Given the description of an element on the screen output the (x, y) to click on. 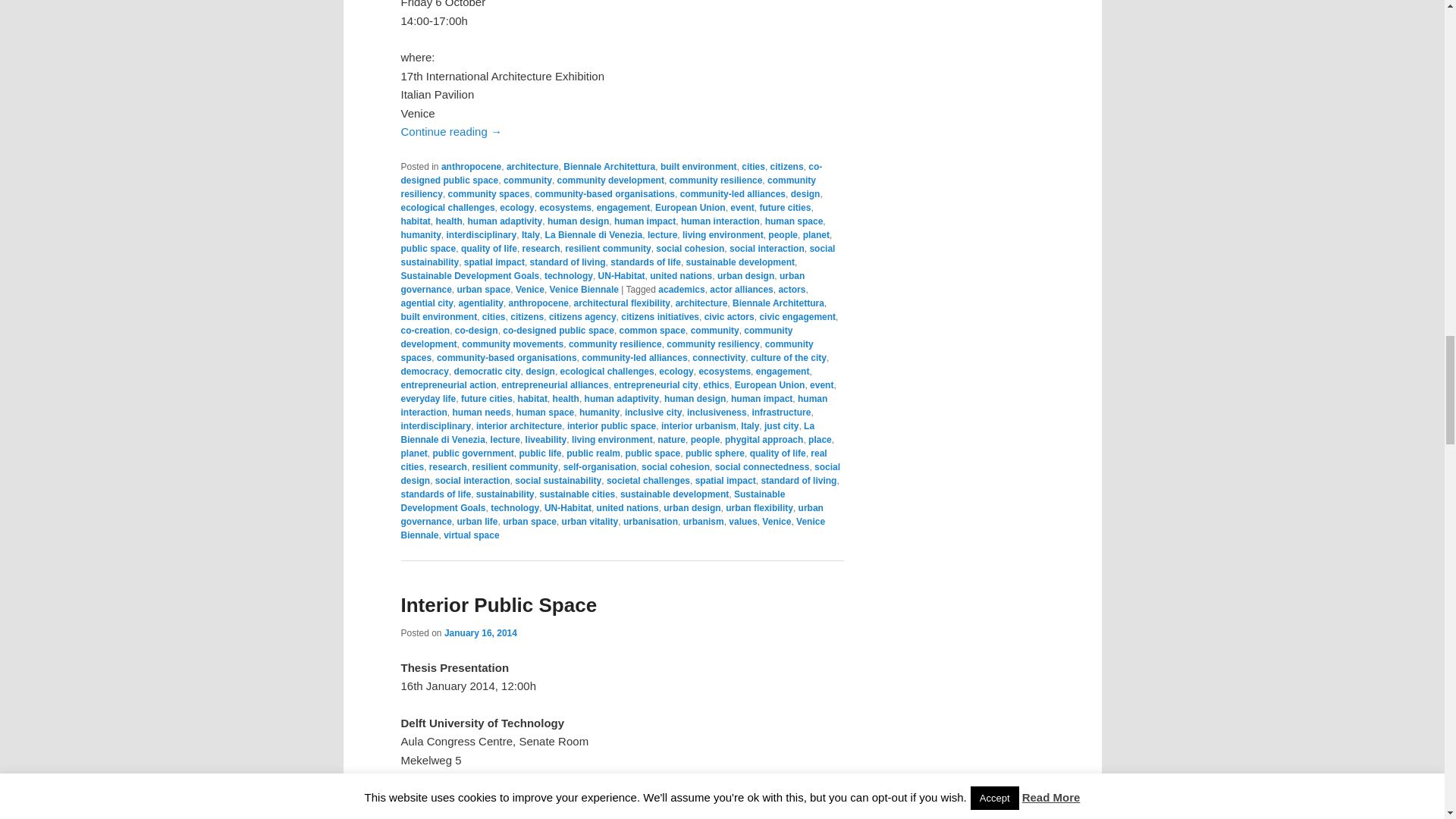
16:00 (480, 633)
